Given the description of an element on the screen output the (x, y) to click on. 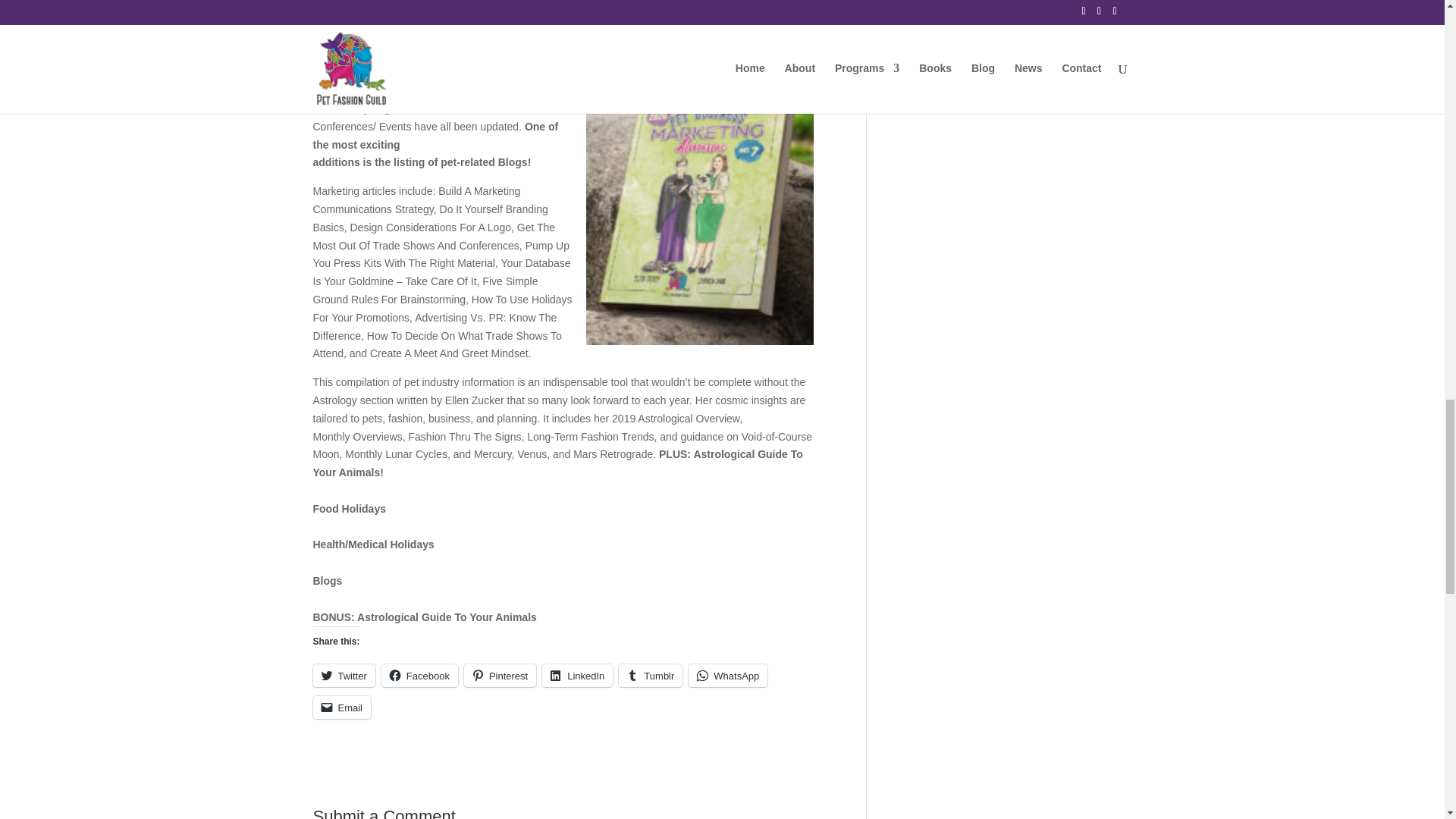
Click to share on Twitter (343, 675)
Click to email a link to a friend (342, 707)
Click to share on Pinterest (499, 675)
Twitter (343, 675)
Facebook (419, 675)
LinkedIn (576, 675)
Click to share on WhatsApp (727, 675)
Click to share on LinkedIn (576, 675)
Click to share on Facebook (419, 675)
Pinterest (499, 675)
